Given the description of an element on the screen output the (x, y) to click on. 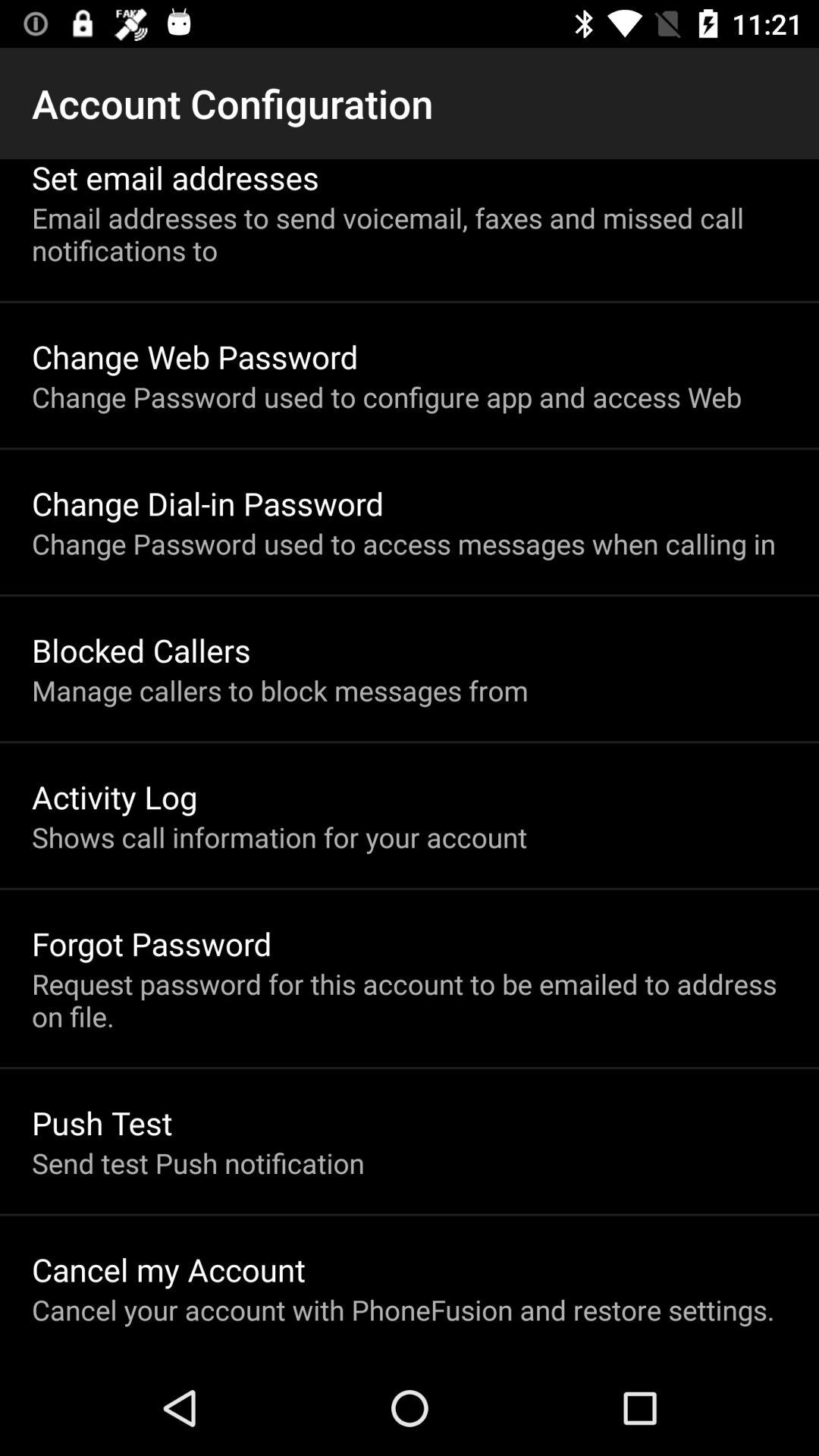
choose the icon above activity log (279, 690)
